Given the description of an element on the screen output the (x, y) to click on. 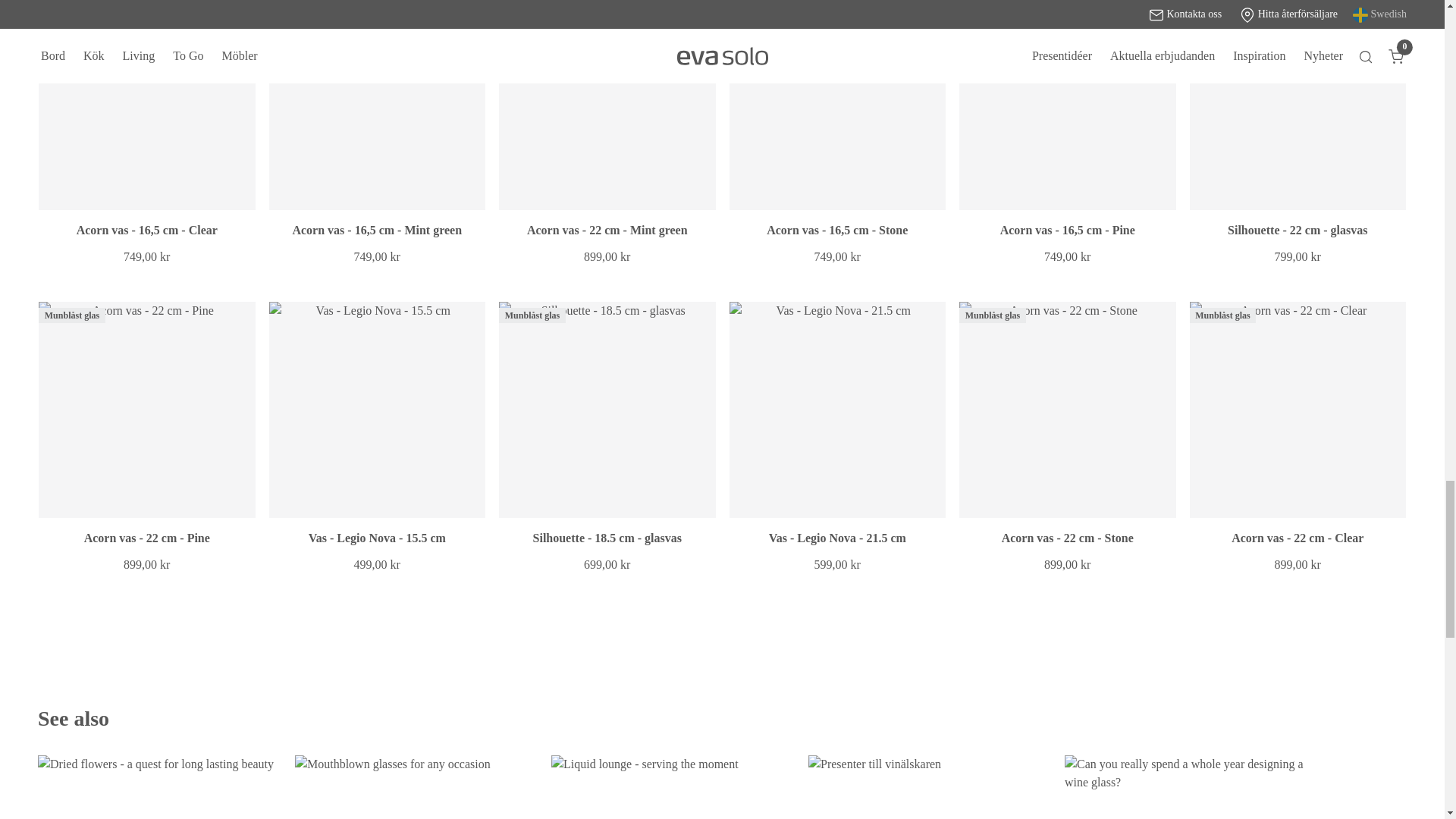
Mouthblown glasses for any occasion (417, 787)
Dried flowers - a quest for long lasting beauty (159, 787)
Can you really spend a whole year designing a wine glass? (1186, 787)
Liquid lounge - serving the moment (673, 787)
